Given the description of an element on the screen output the (x, y) to click on. 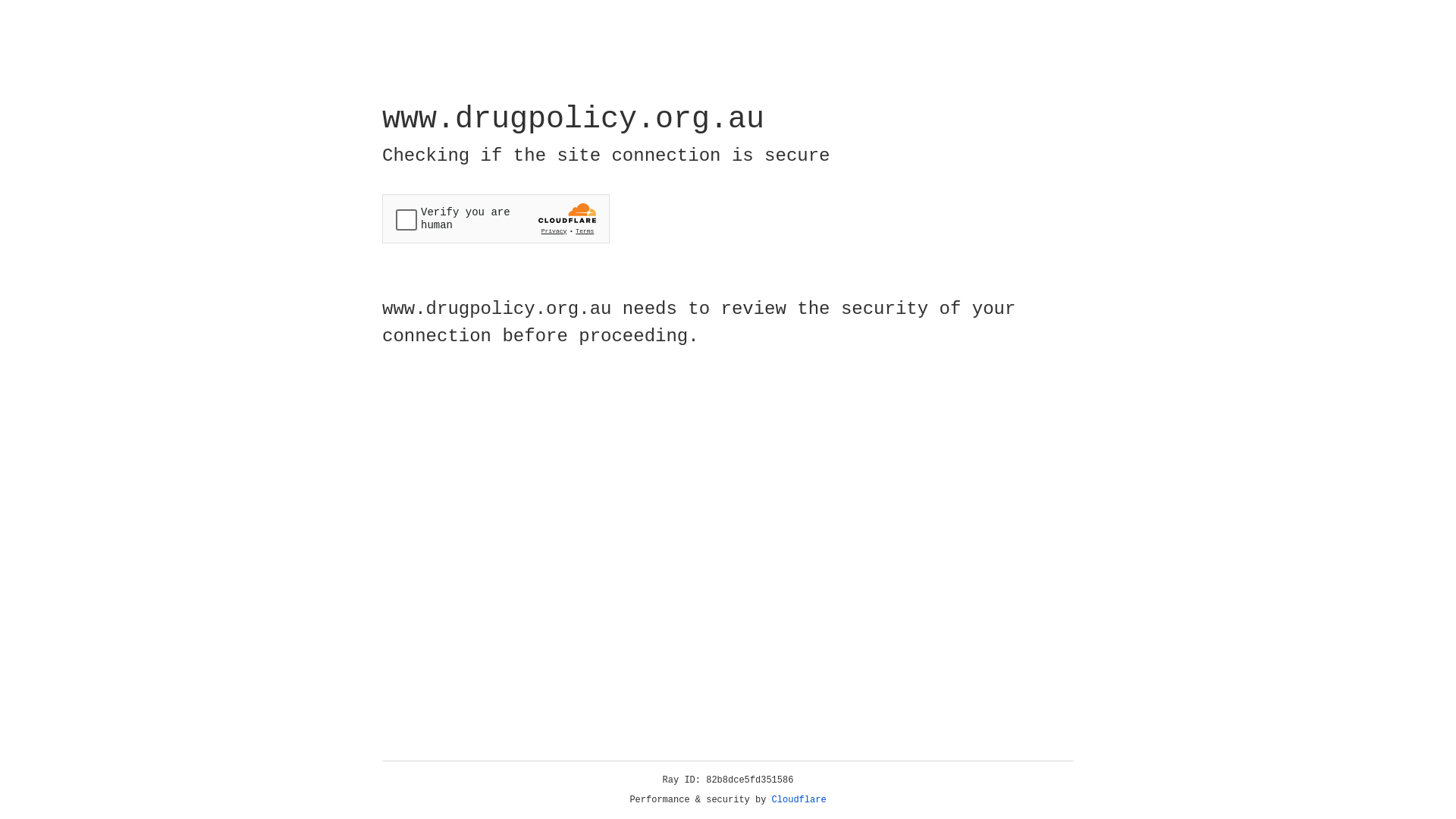
Widget containing a Cloudflare security challenge Element type: hover (495, 218)
Cloudflare Element type: text (798, 799)
